Given the description of an element on the screen output the (x, y) to click on. 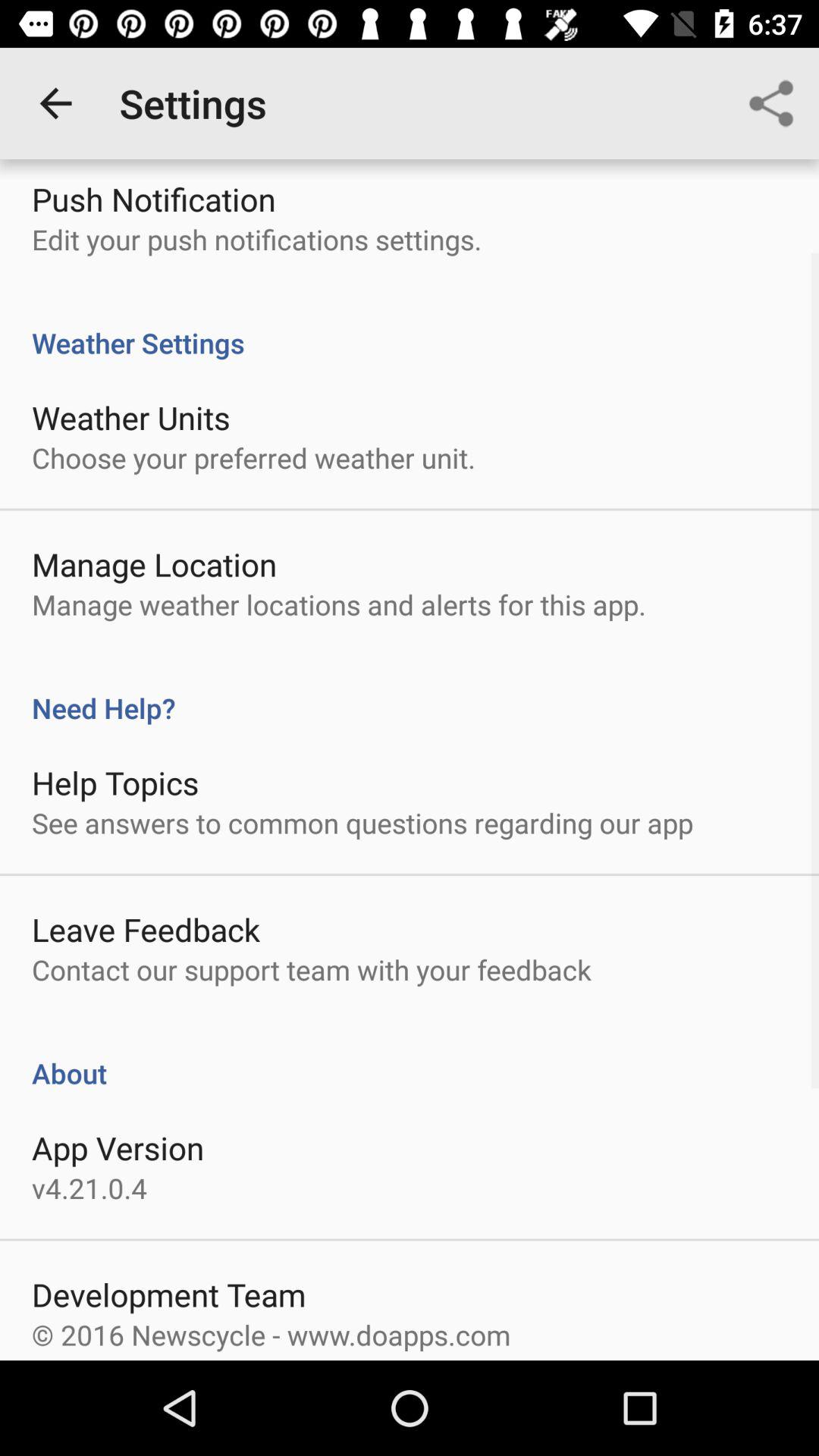
click contact our support icon (311, 969)
